Given the description of an element on the screen output the (x, y) to click on. 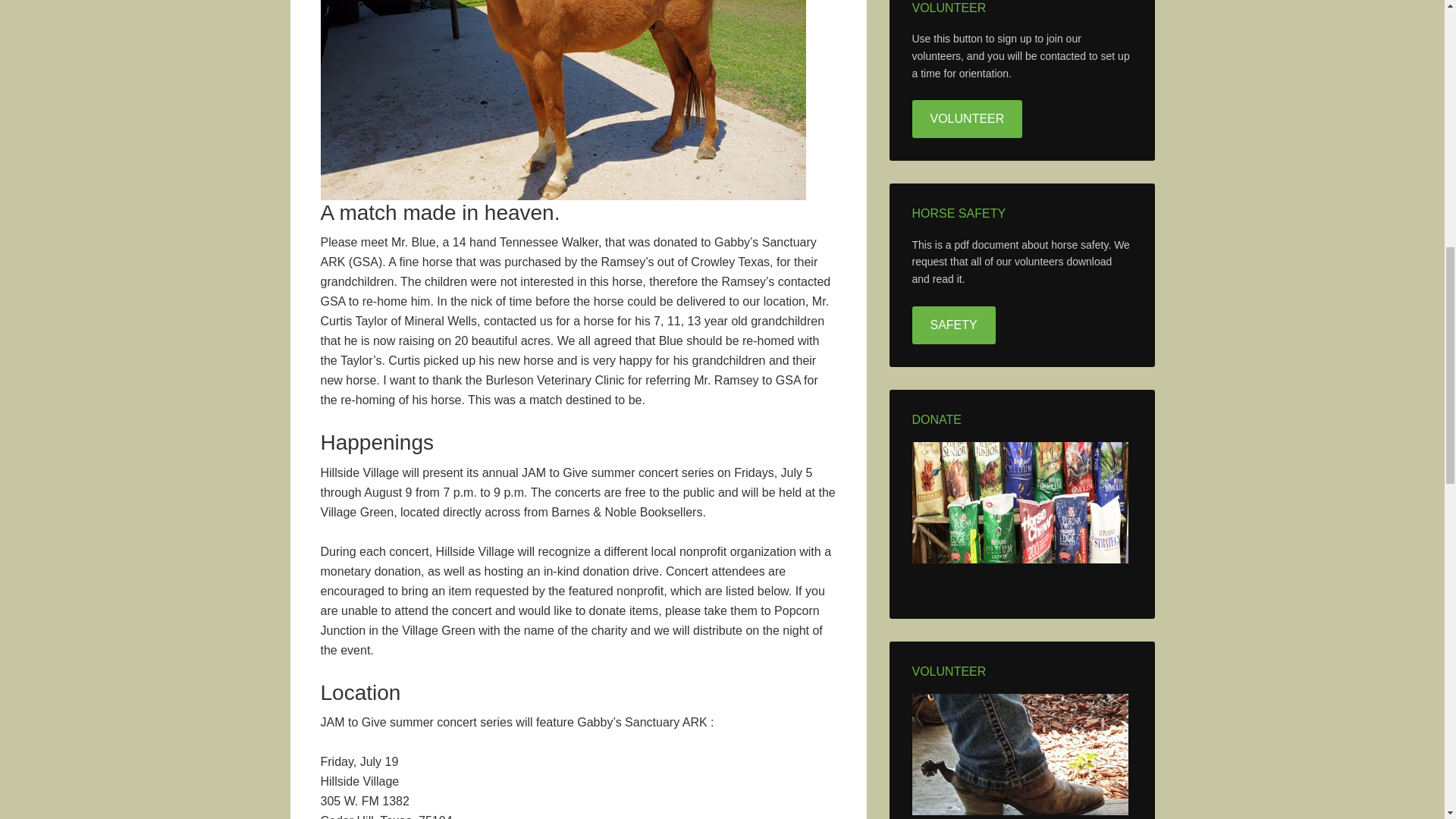
Volunteer (966, 118)
Safety (952, 324)
Volunteer (966, 118)
Safety (952, 324)
